Given the description of an element on the screen output the (x, y) to click on. 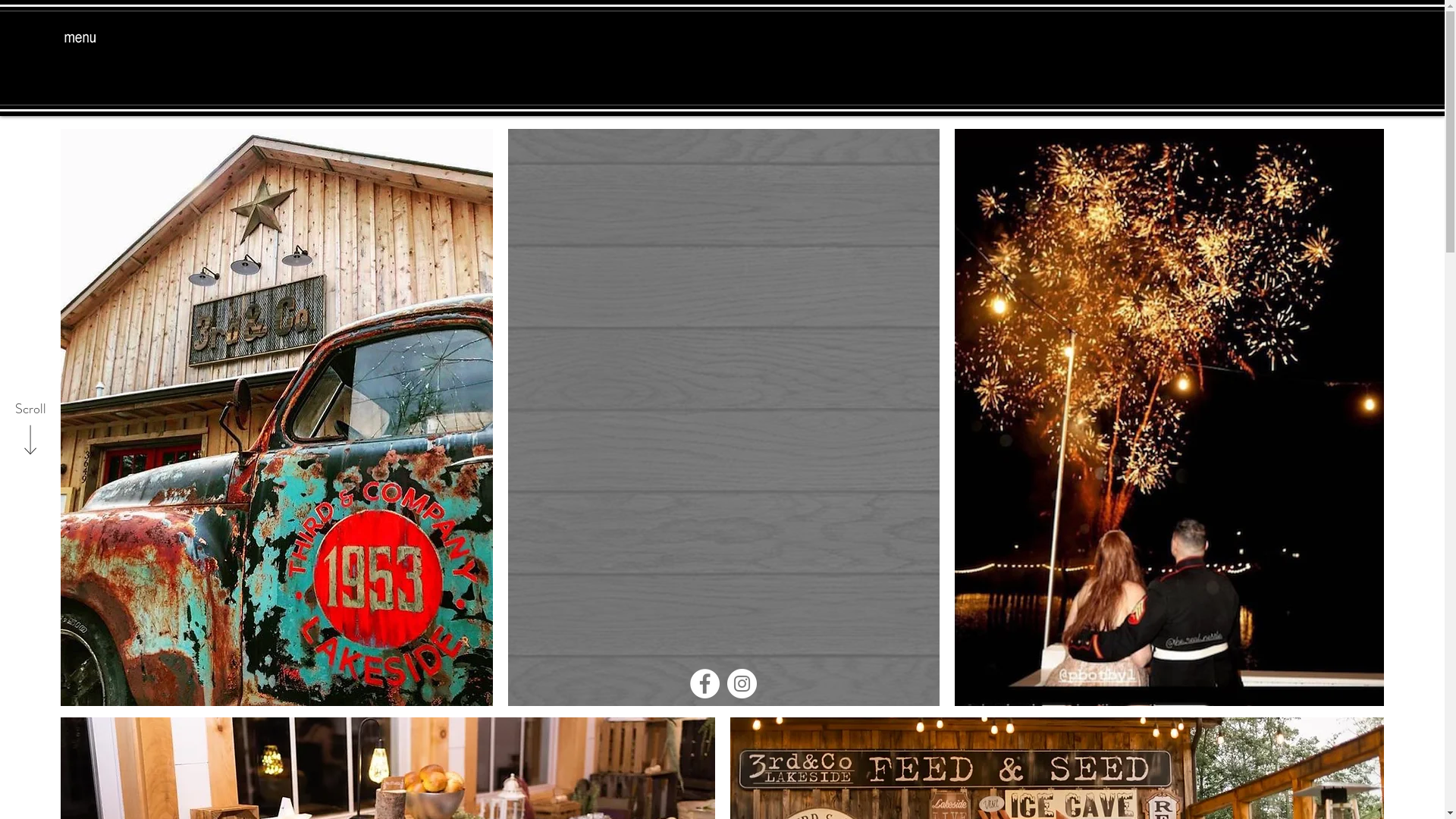
Scroll Element type: text (30, 409)
